Given the description of an element on the screen output the (x, y) to click on. 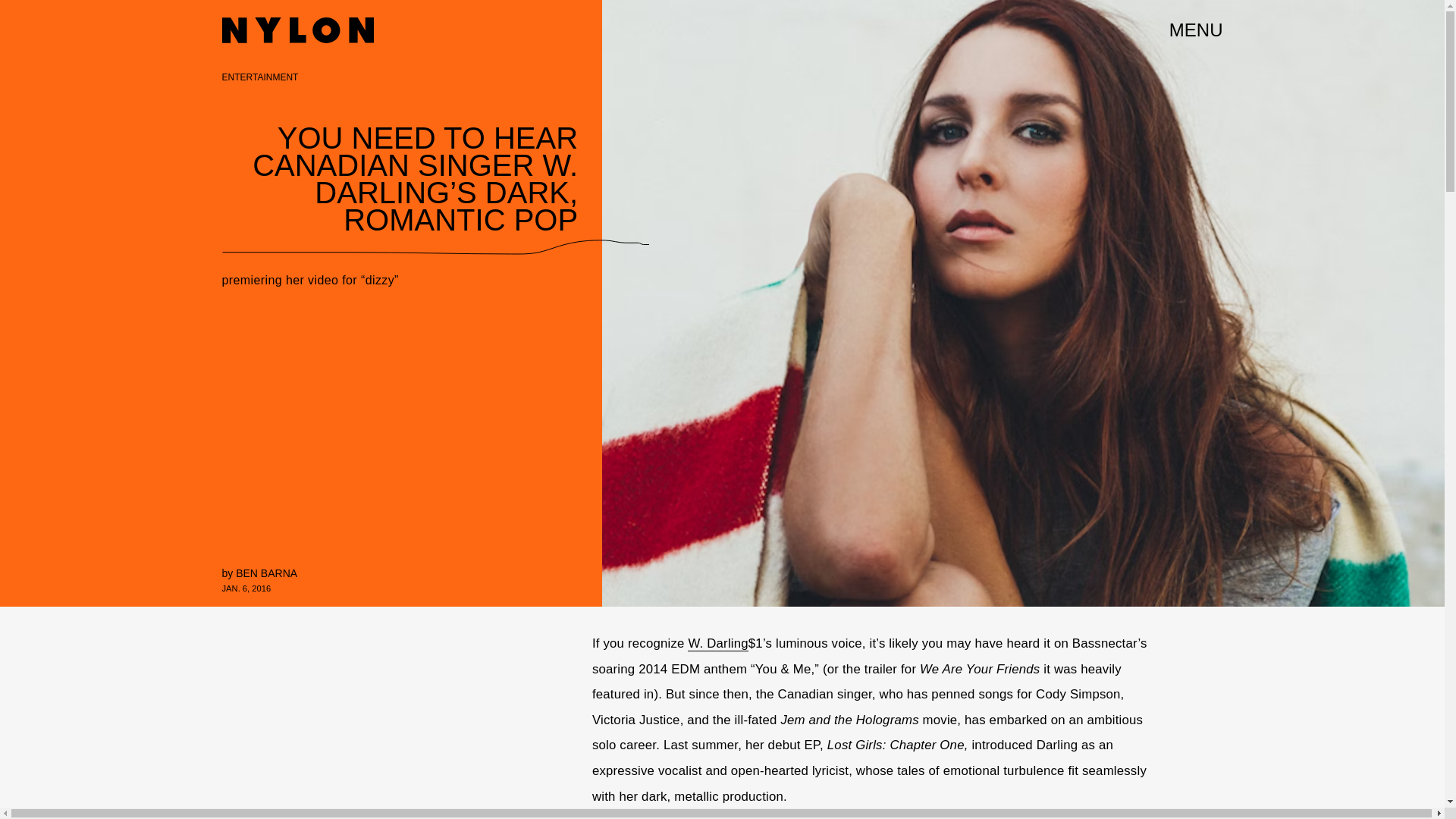
BEN BARNA (266, 573)
W. Darling (717, 643)
Nylon (296, 30)
